Given the description of an element on the screen output the (x, y) to click on. 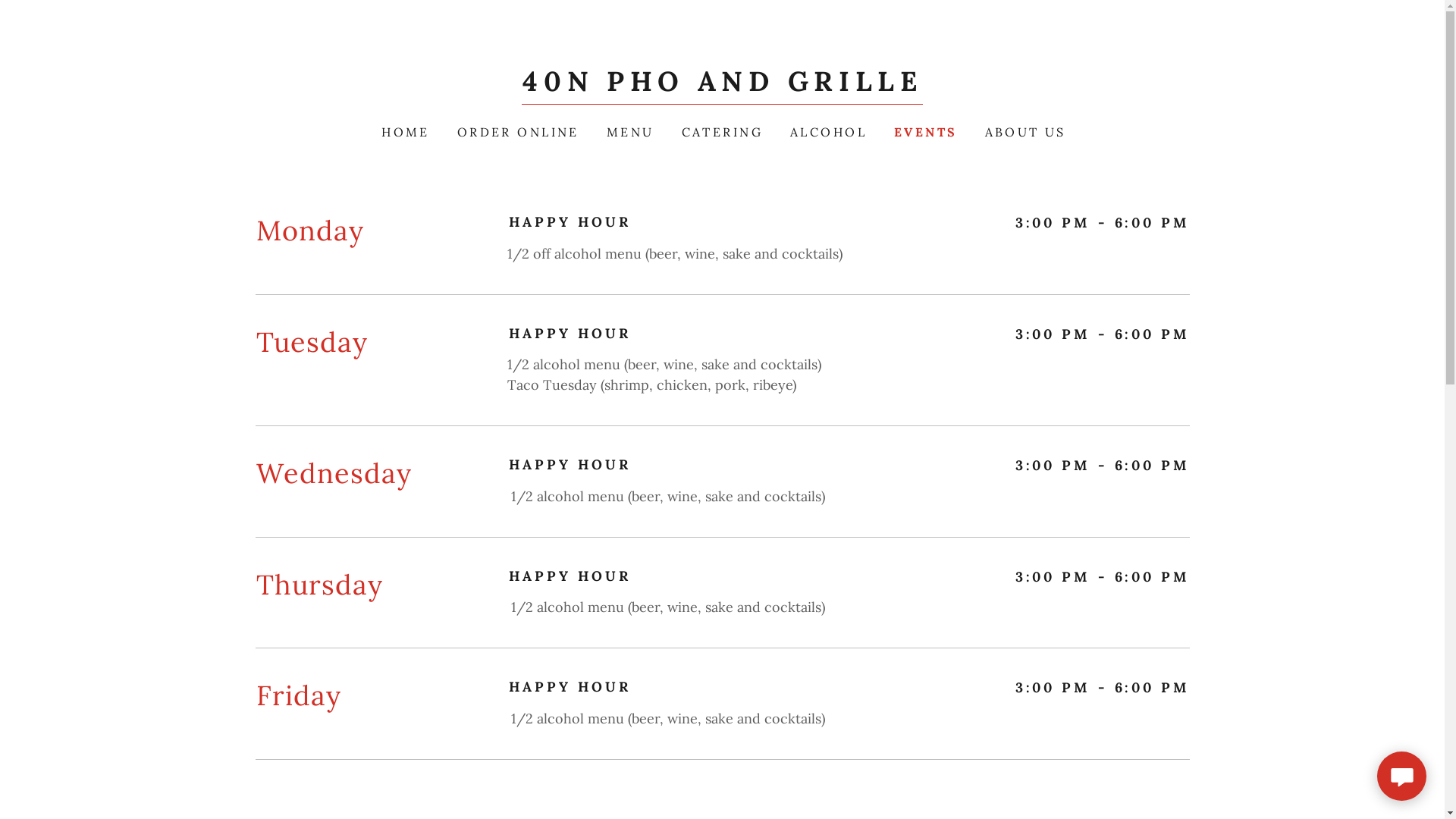
MENU Element type: text (628, 131)
ORDER ONLINE Element type: text (516, 131)
HOME Element type: text (403, 131)
CATERING Element type: text (720, 131)
EVENTS Element type: text (924, 131)
ALCOHOL Element type: text (826, 131)
40N PHO AND GRILLE Element type: text (721, 85)
ABOUT US Element type: text (1023, 131)
